Given the description of an element on the screen output the (x, y) to click on. 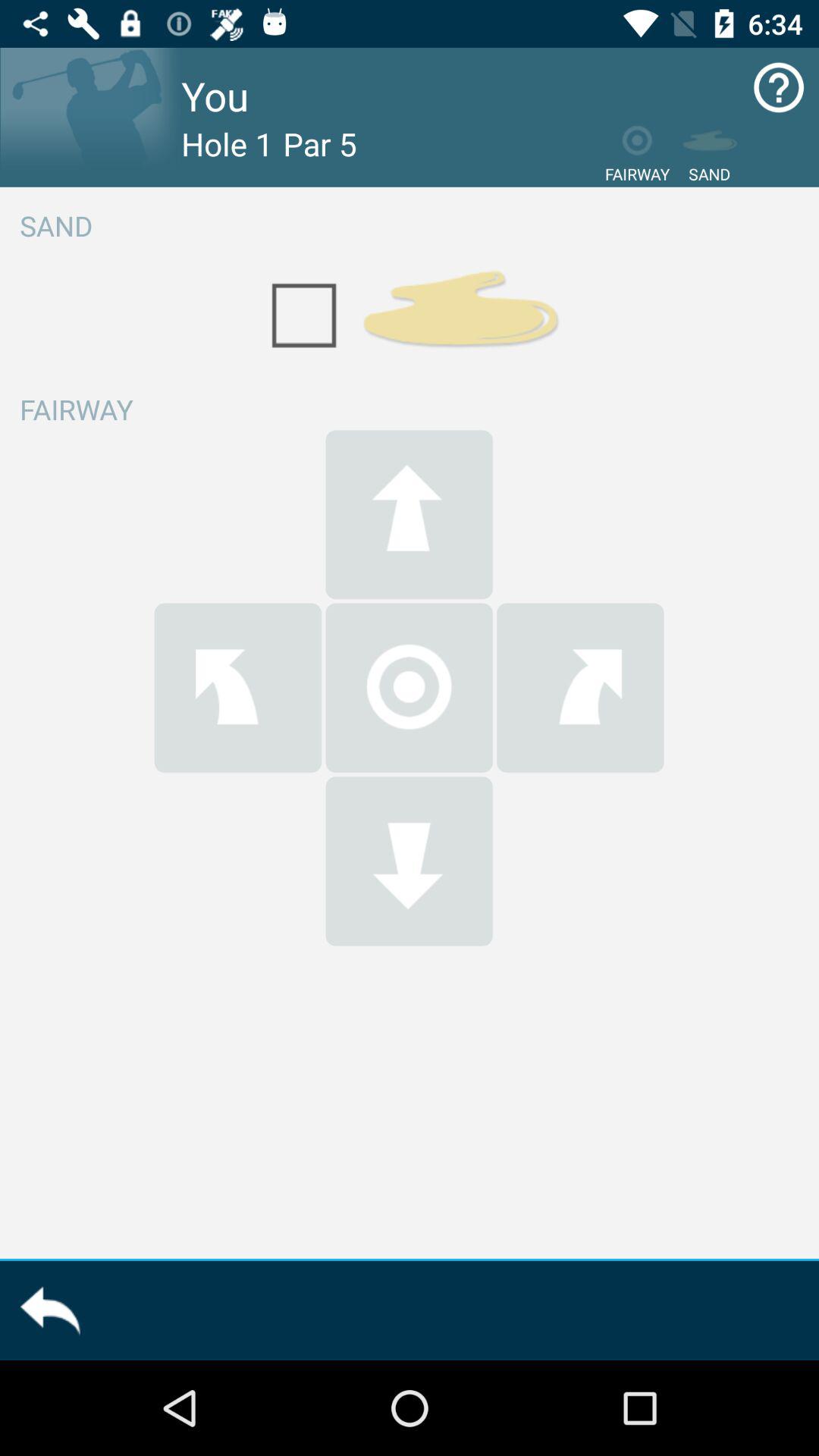
open the icon at the bottom left corner (49, 1310)
